Given the description of an element on the screen output the (x, y) to click on. 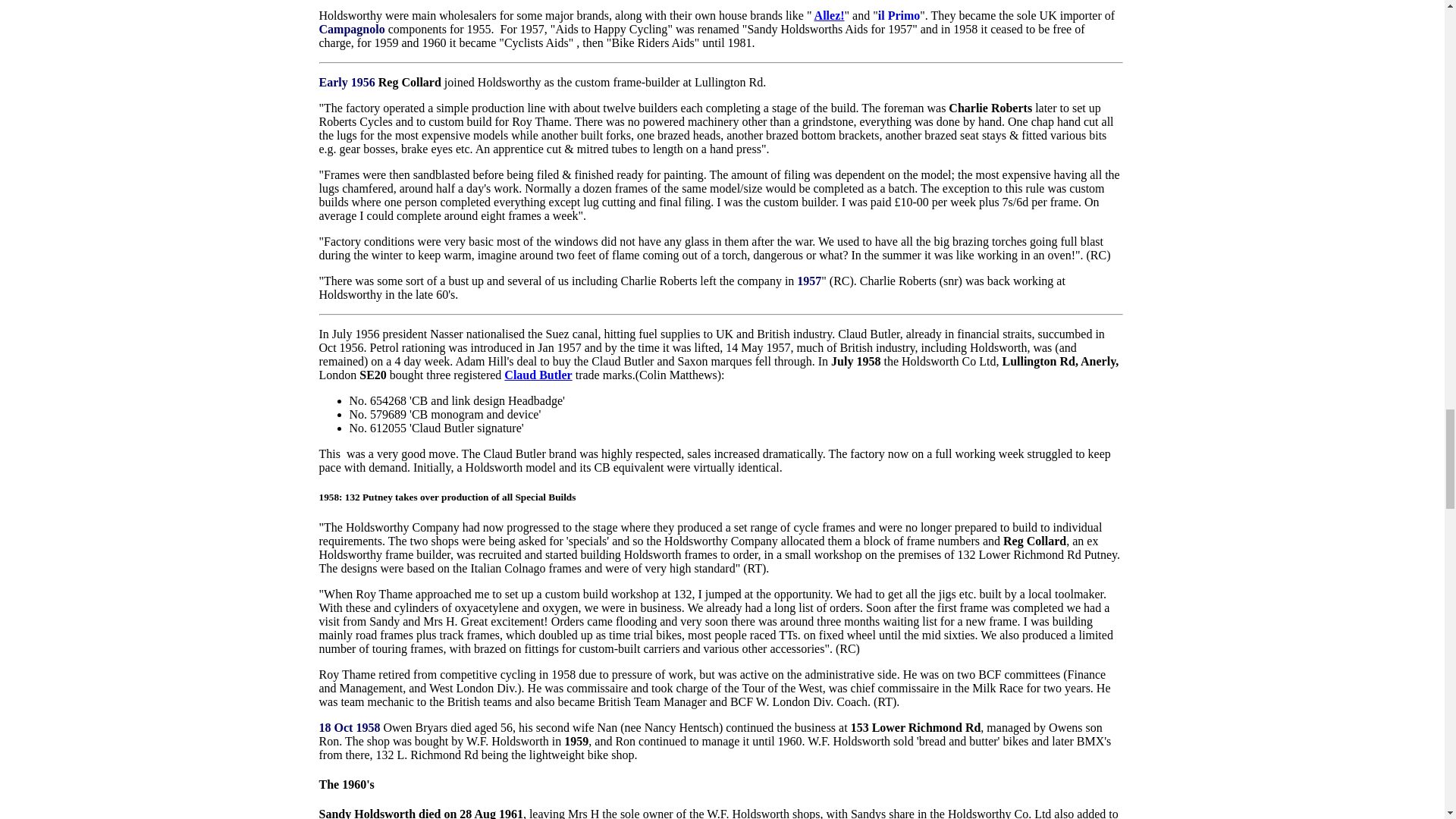
Allez! (828, 15)
Claud Butler (537, 374)
